Given the description of an element on the screen output the (x, y) to click on. 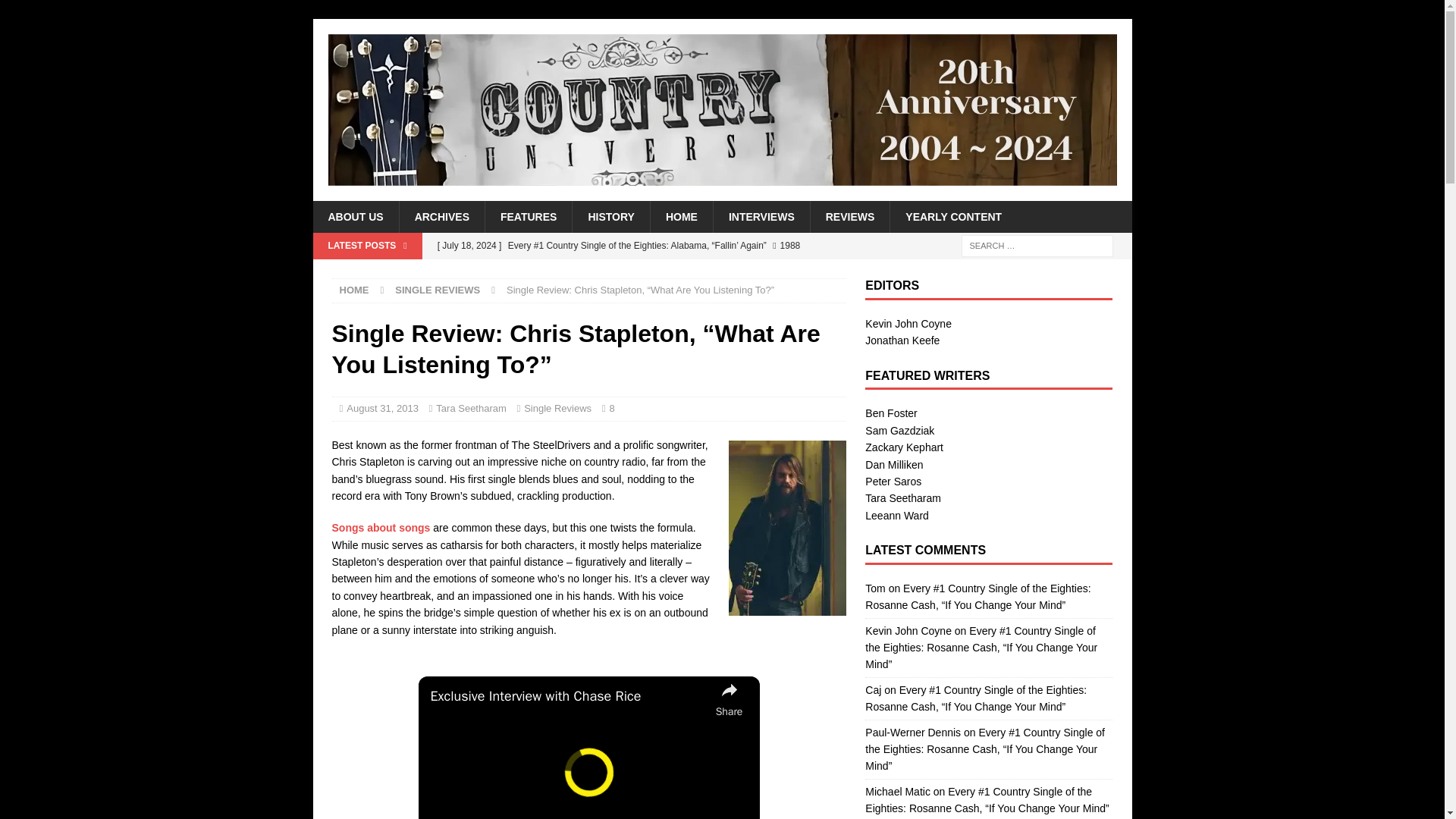
Single Review Roundup: Vol. 3, No. 26 (637, 271)
